Given the description of an element on the screen output the (x, y) to click on. 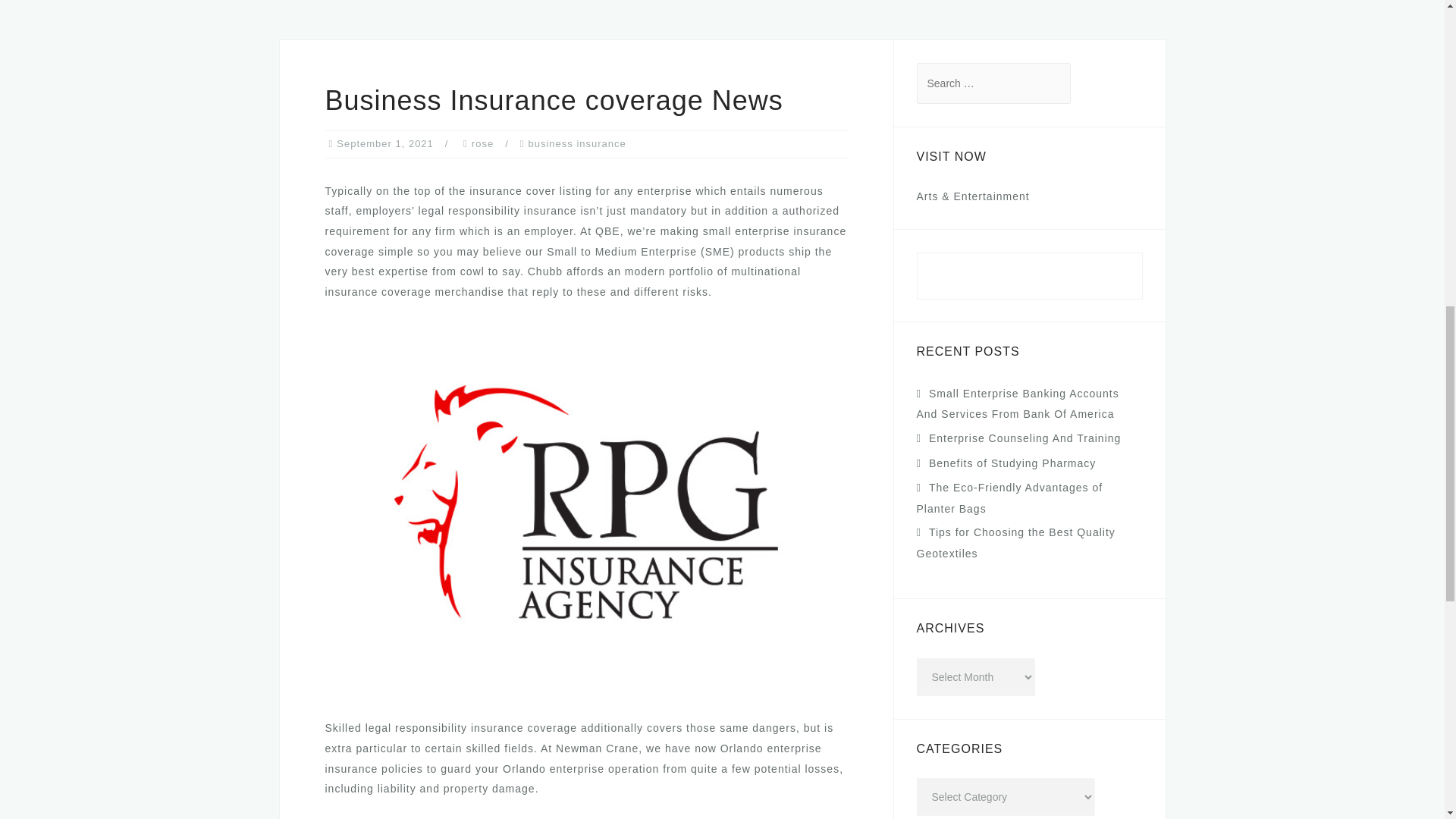
September 1, 2021 (384, 143)
rose (482, 143)
business insurance (576, 143)
